Given the description of an element on the screen output the (x, y) to click on. 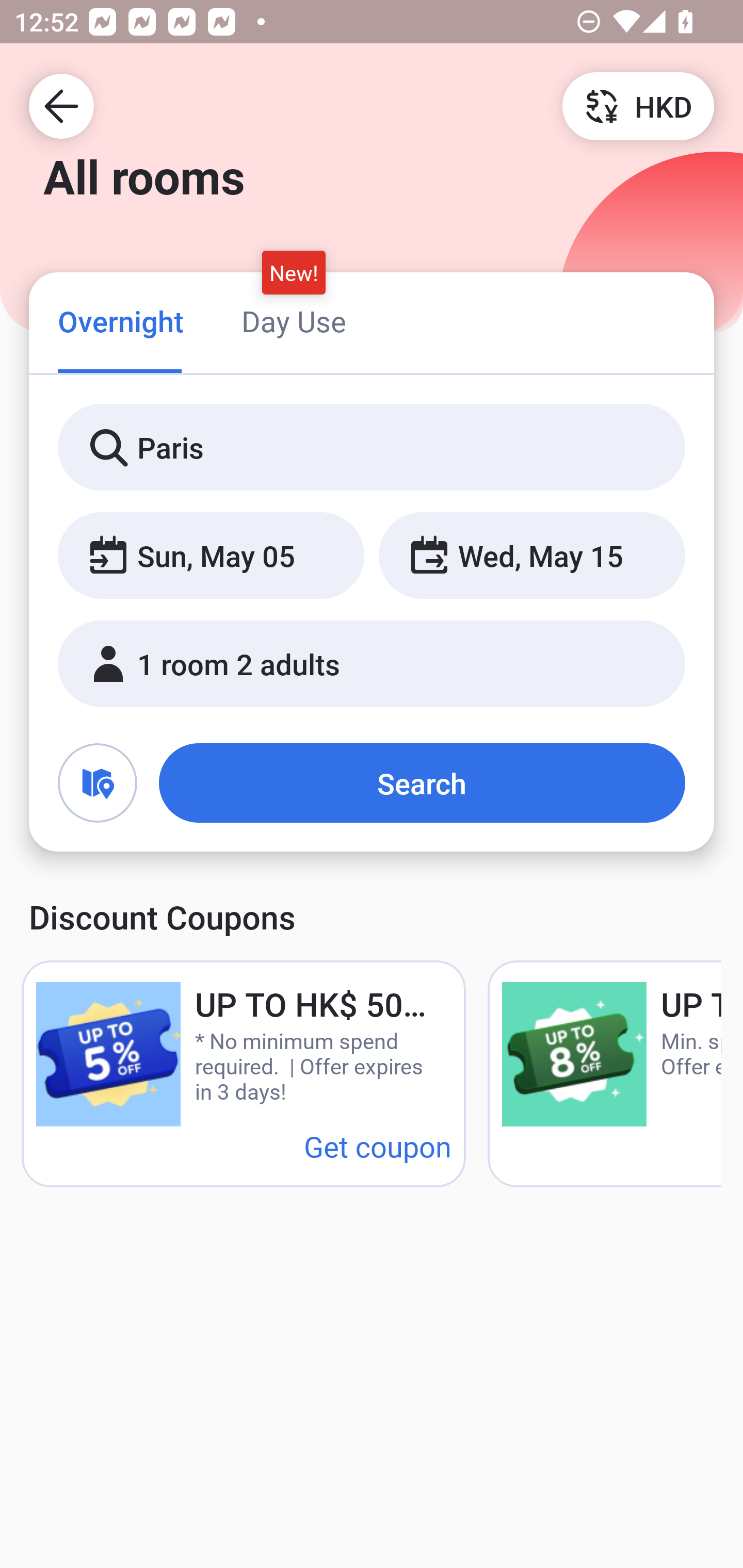
HKD (638, 105)
New! (294, 272)
Day Use (293, 321)
Paris (371, 447)
Sun, May 05 (210, 555)
Wed, May 15 (531, 555)
1 room 2 adults (371, 663)
Search (422, 783)
Get coupon (377, 1146)
